Given the description of an element on the screen output the (x, y) to click on. 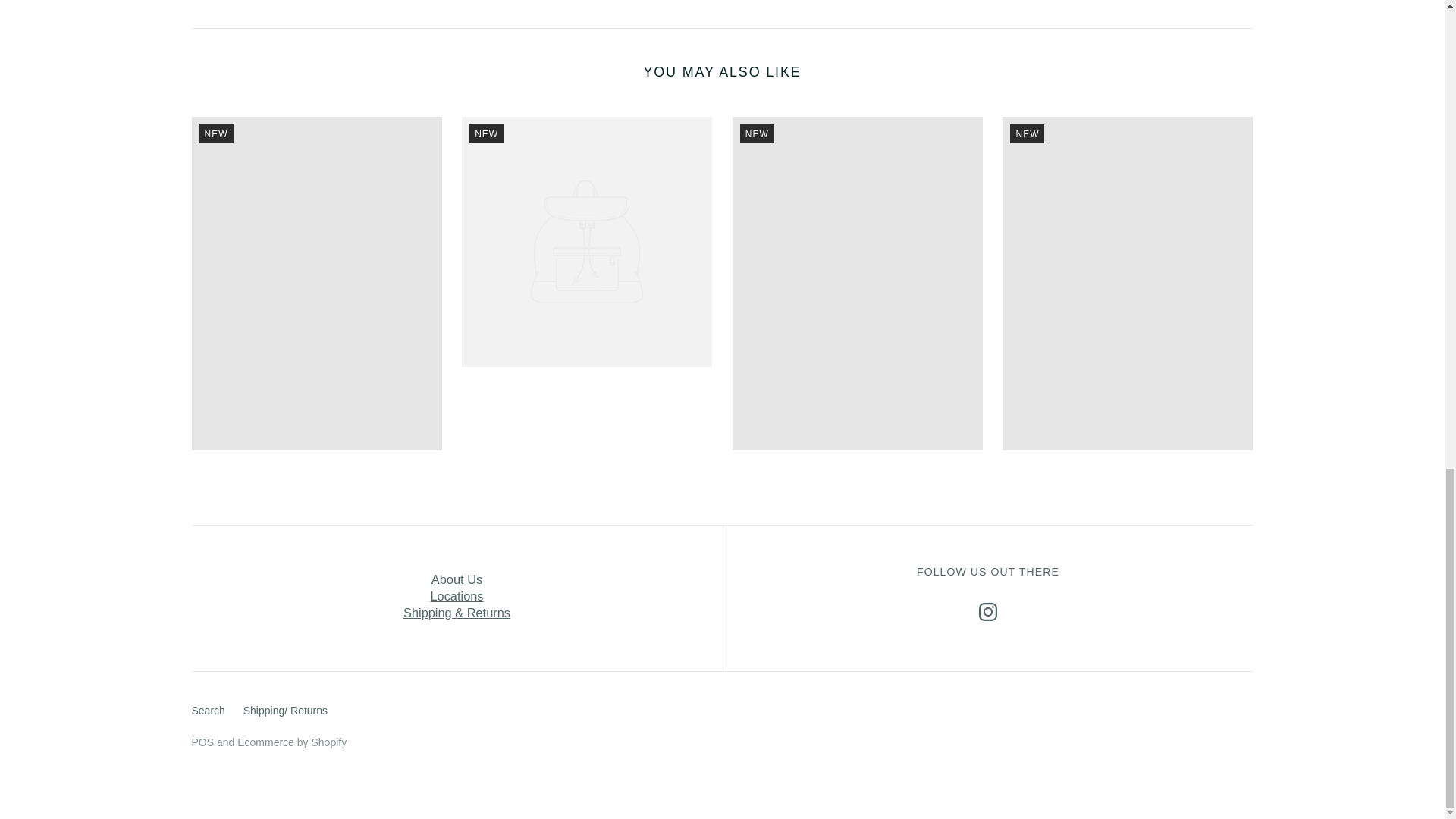
Instagram Icon (987, 611)
